Given the description of an element on the screen output the (x, y) to click on. 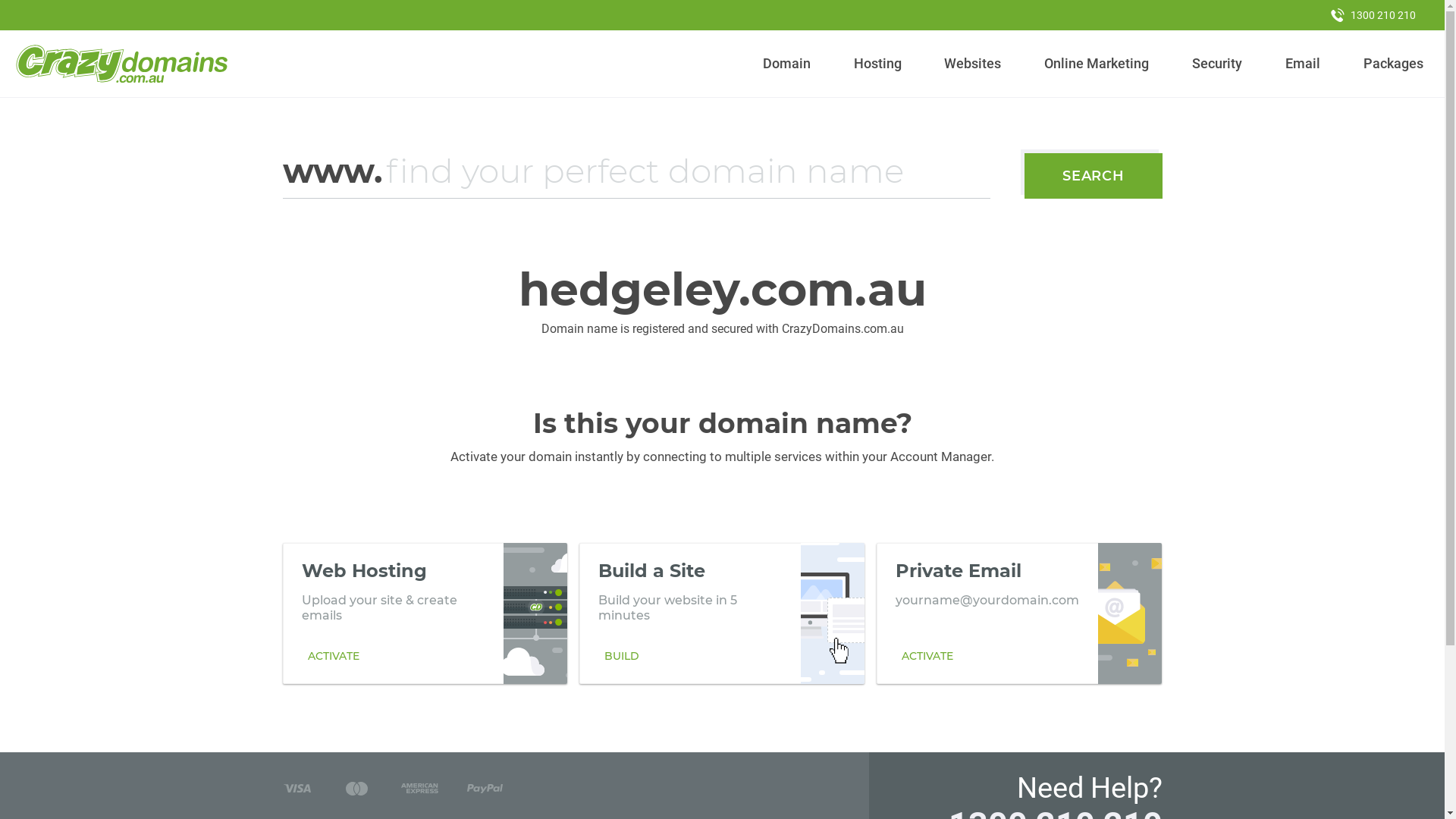
Packages Element type: text (1392, 63)
Online Marketing Element type: text (1096, 63)
Build a Site
Build your website in 5 minutes
BUILD Element type: text (721, 613)
Email Element type: text (1302, 63)
Web Hosting
Upload your site & create emails
ACTIVATE Element type: text (424, 613)
Private Email
yourname@yourdomain.com
ACTIVATE Element type: text (1018, 613)
1300 210 210 Element type: text (1373, 15)
SEARCH Element type: text (1092, 175)
Domain Element type: text (786, 63)
Security Element type: text (1217, 63)
Hosting Element type: text (877, 63)
Websites Element type: text (972, 63)
